Given the description of an element on the screen output the (x, y) to click on. 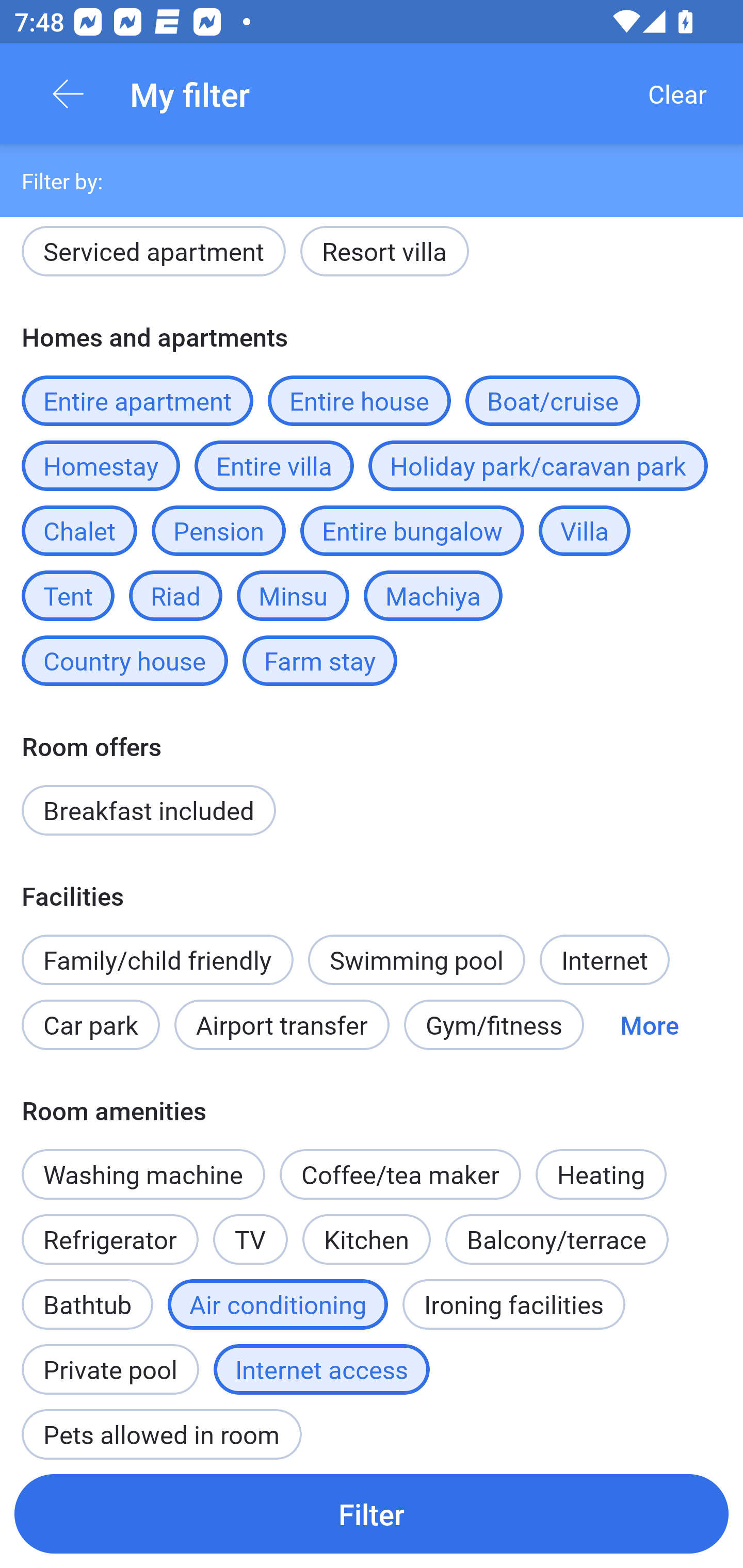
Clear (676, 93)
Serviced apartment (153, 255)
Resort villa (384, 255)
Breakfast included (148, 809)
Family/child friendly (157, 960)
Swimming pool (416, 960)
Internet (604, 960)
Car park (90, 1024)
Airport transfer (281, 1024)
Gym/fitness (493, 1024)
More (649, 1024)
Washing machine (143, 1174)
Coffee/tea maker (399, 1174)
Heating (600, 1163)
Refrigerator (109, 1239)
TV (250, 1228)
Kitchen (366, 1239)
Balcony/terrace (556, 1239)
Bathtub (87, 1293)
Ironing facilities (513, 1304)
Private pool (110, 1358)
Pets allowed in room (161, 1424)
Filter (371, 1513)
